Given the description of an element on the screen output the (x, y) to click on. 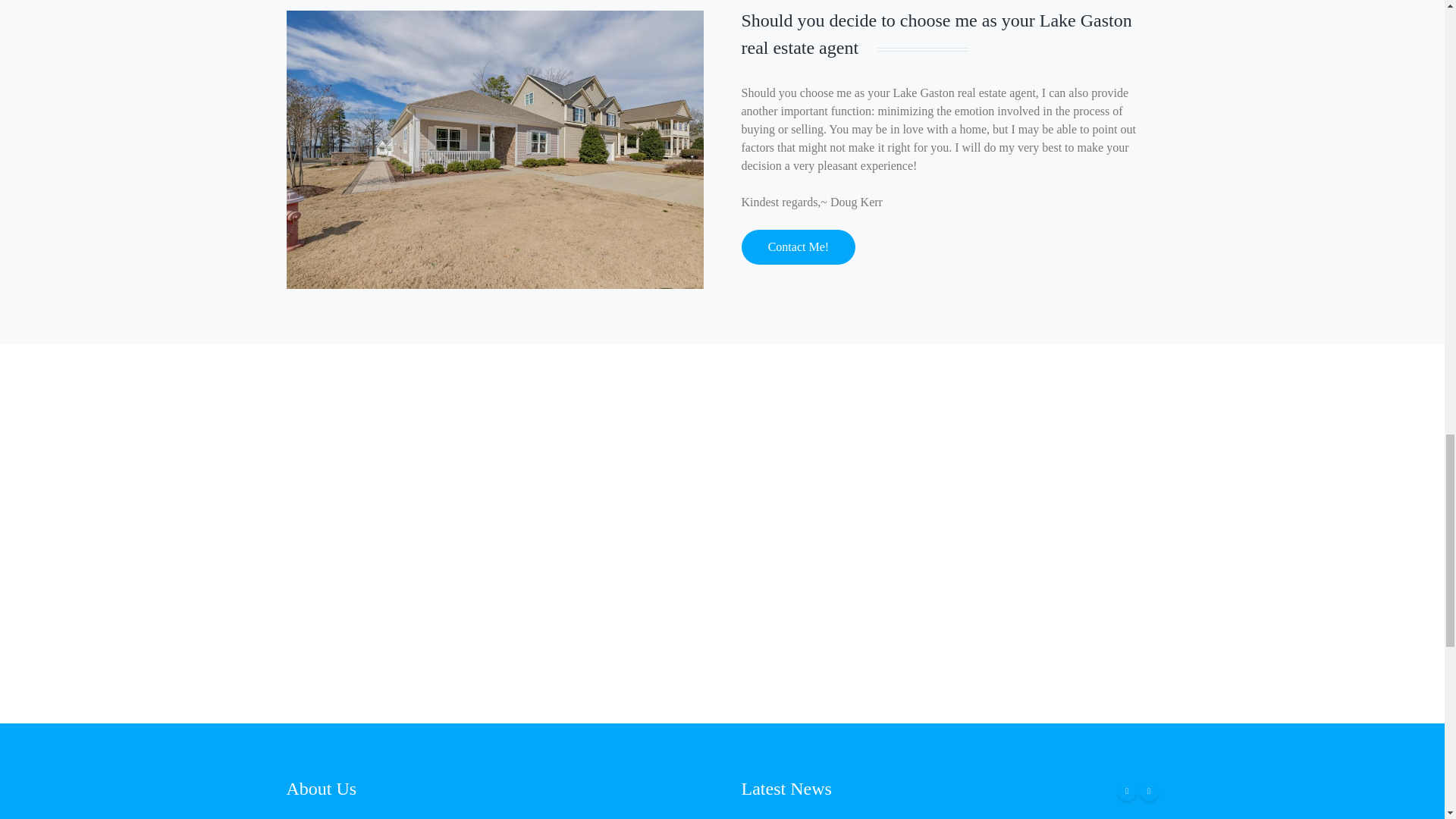
Contact Me! (798, 247)
